Given the description of an element on the screen output the (x, y) to click on. 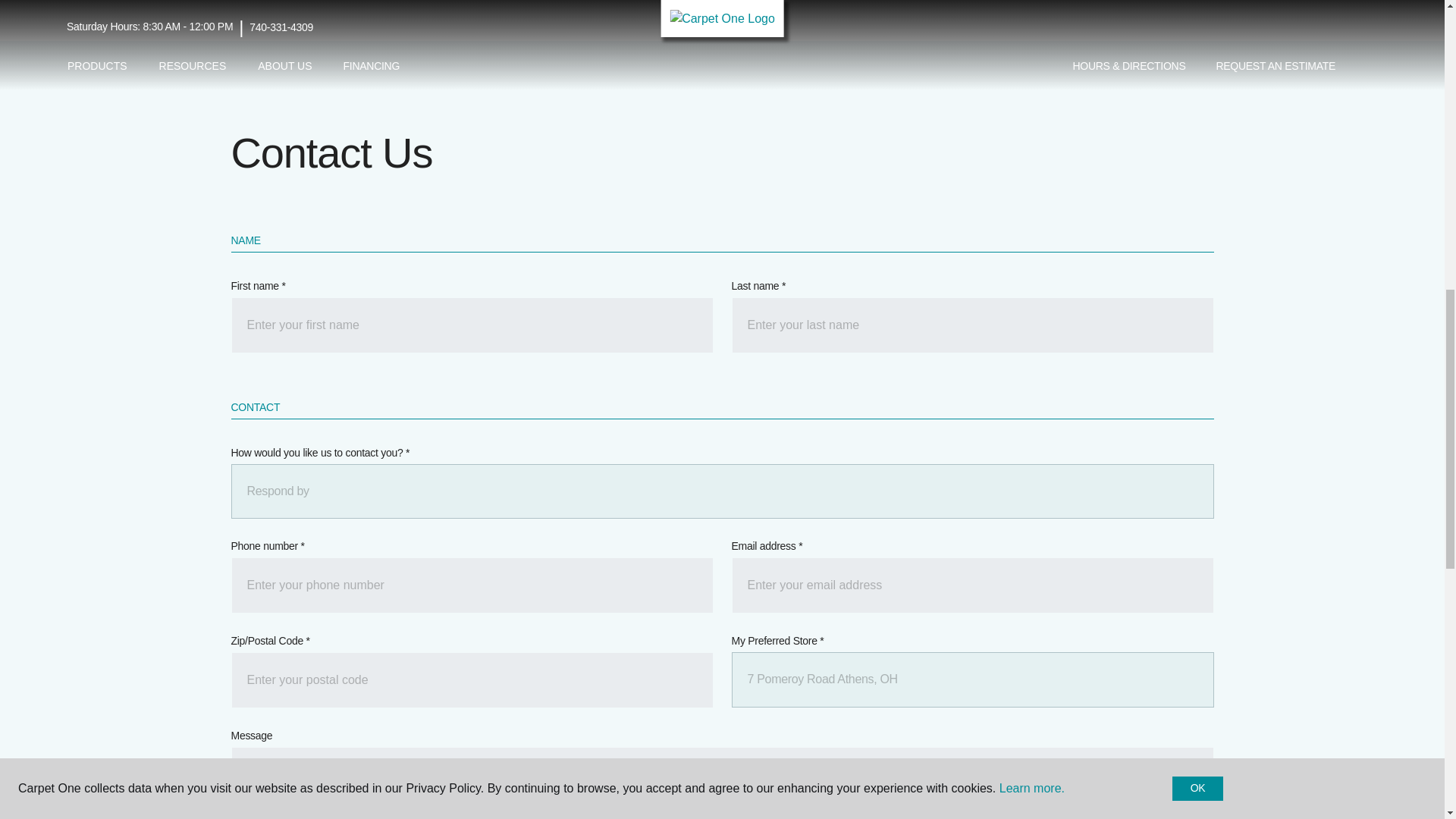
FirstName (471, 324)
LastName (971, 324)
CleanHomePhone (471, 585)
PostalCode (471, 679)
EmailAddress (971, 585)
MyMessage (721, 782)
